Given the description of an element on the screen output the (x, y) to click on. 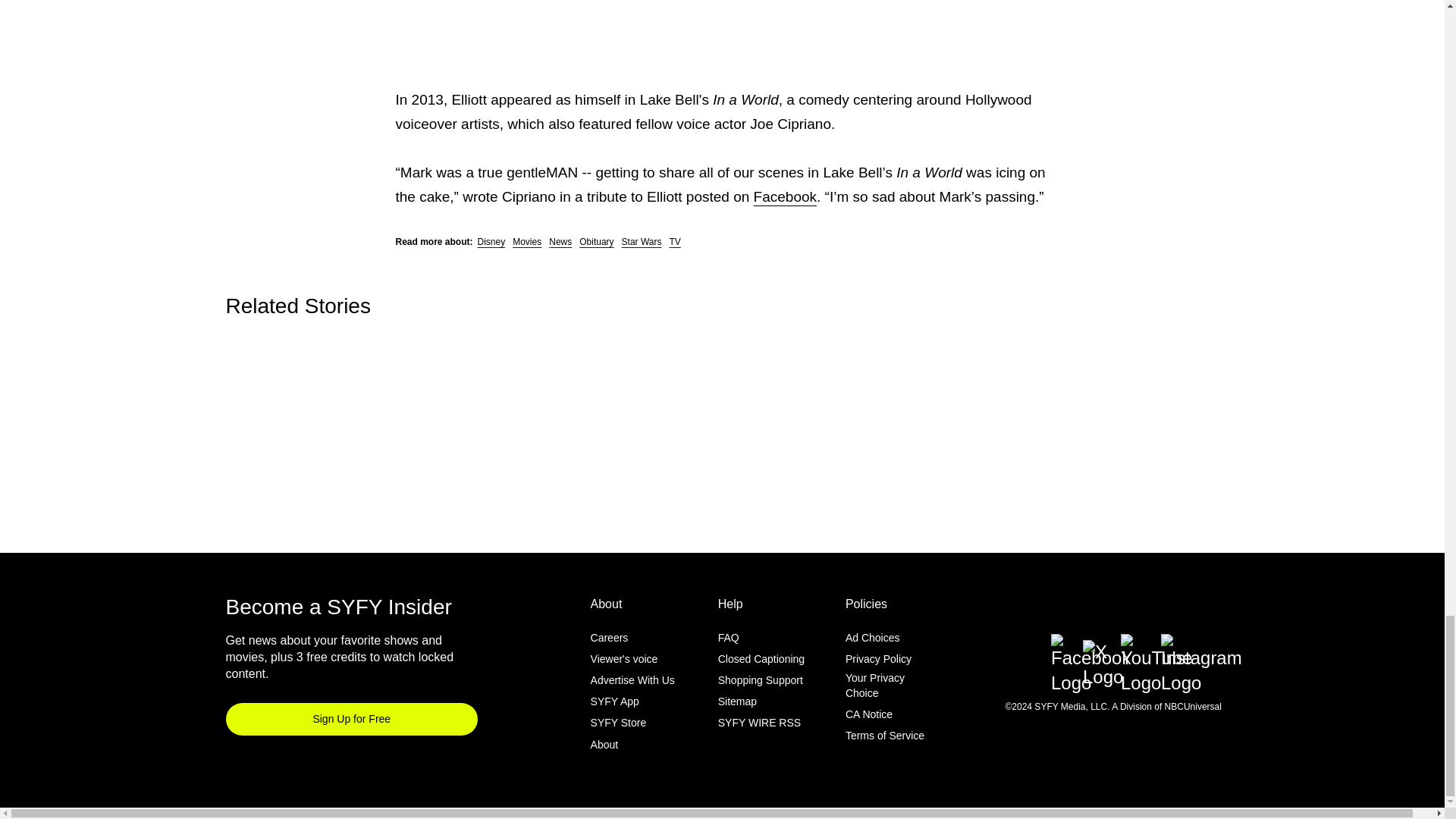
Star Wars (641, 241)
Disney (491, 241)
Advertise With Us (633, 680)
TV (673, 241)
Facebook (785, 196)
Movies (526, 241)
Obituary (595, 241)
News (560, 241)
